Given the description of an element on the screen output the (x, y) to click on. 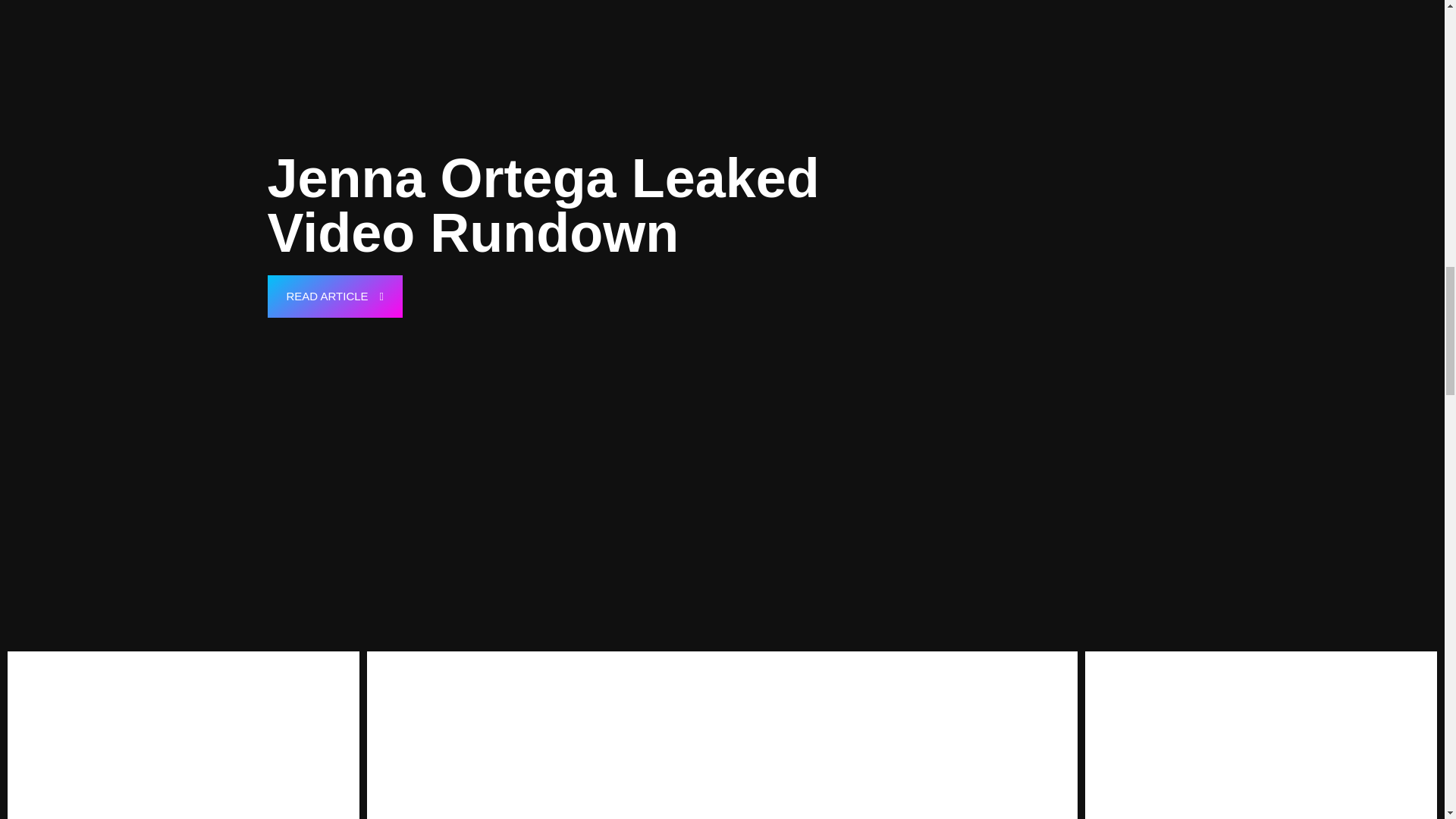
Home 13 (1260, 735)
Home 11 (183, 735)
Home 12 (722, 735)
